Given the description of an element on the screen output the (x, y) to click on. 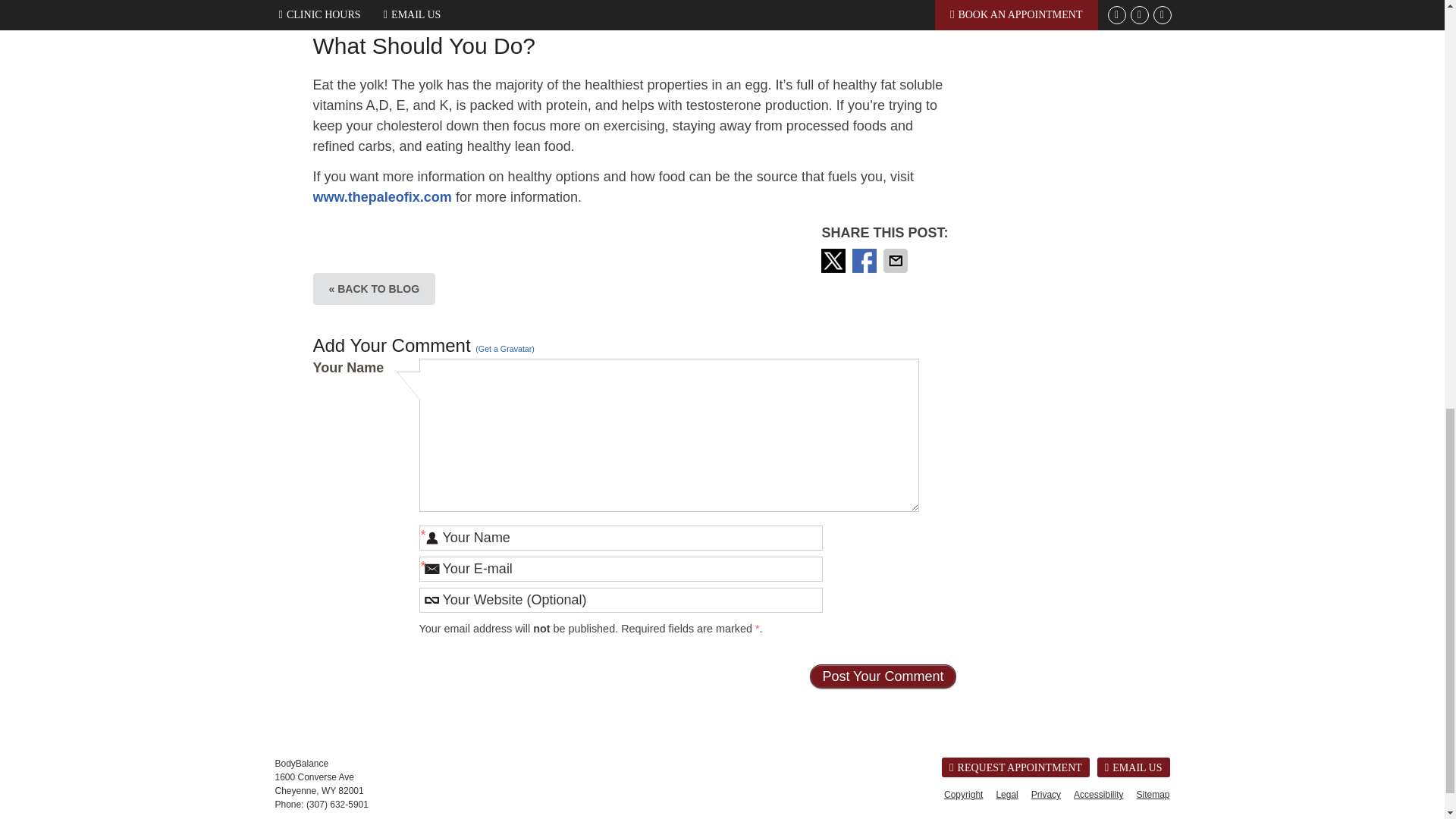
Share on Twitter (834, 260)
Your Name (620, 537)
Your E-mail (620, 568)
Share via Email (897, 260)
www.thepaleofix.com (382, 196)
Your Name (620, 537)
Share on Facebook (865, 260)
Post Your Comment (882, 676)
Footer Links (1053, 793)
Contact (1133, 767)
